Given the description of an element on the screen output the (x, y) to click on. 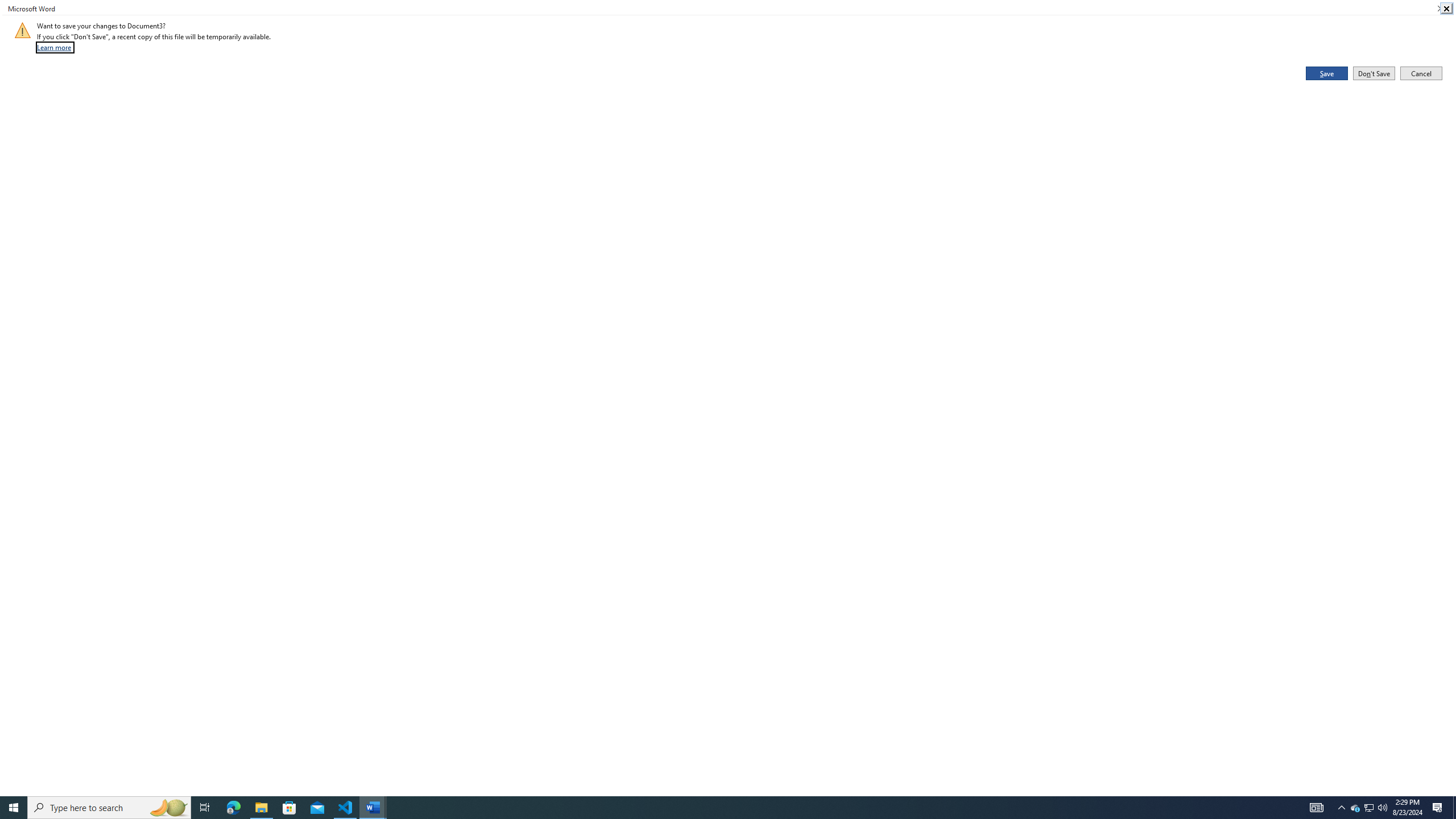
Learn more (54, 47)
Don't Save (1373, 73)
Cancel (1421, 73)
